Given the description of an element on the screen output the (x, y) to click on. 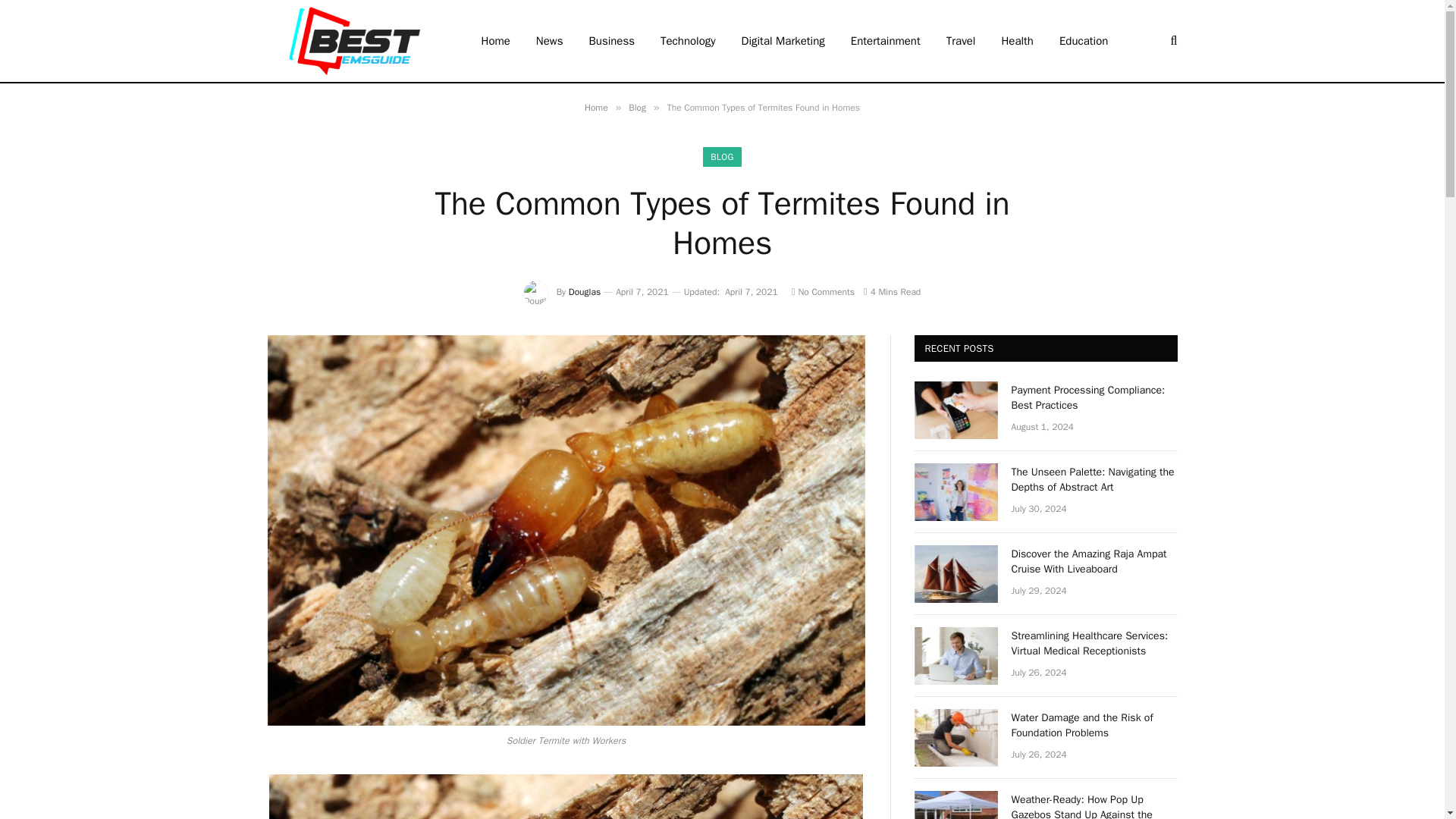
Home (596, 107)
Payment Processing Compliance: Best Practices (955, 409)
Education (1083, 40)
No Comments (823, 291)
Discover the Amazing Raja Ampat Cruise With Liveaboard (955, 573)
Posts by Douglas (584, 291)
Technology (688, 40)
Blog (637, 107)
The Unseen Palette: Navigating the Depths of Abstract Art (1094, 480)
Entertainment (885, 40)
Water Damage and the Risk of Foundation Problems (955, 737)
BLOG (722, 157)
Discover the Amazing Raja Ampat Cruise With Liveaboard (1094, 562)
